Given the description of an element on the screen output the (x, y) to click on. 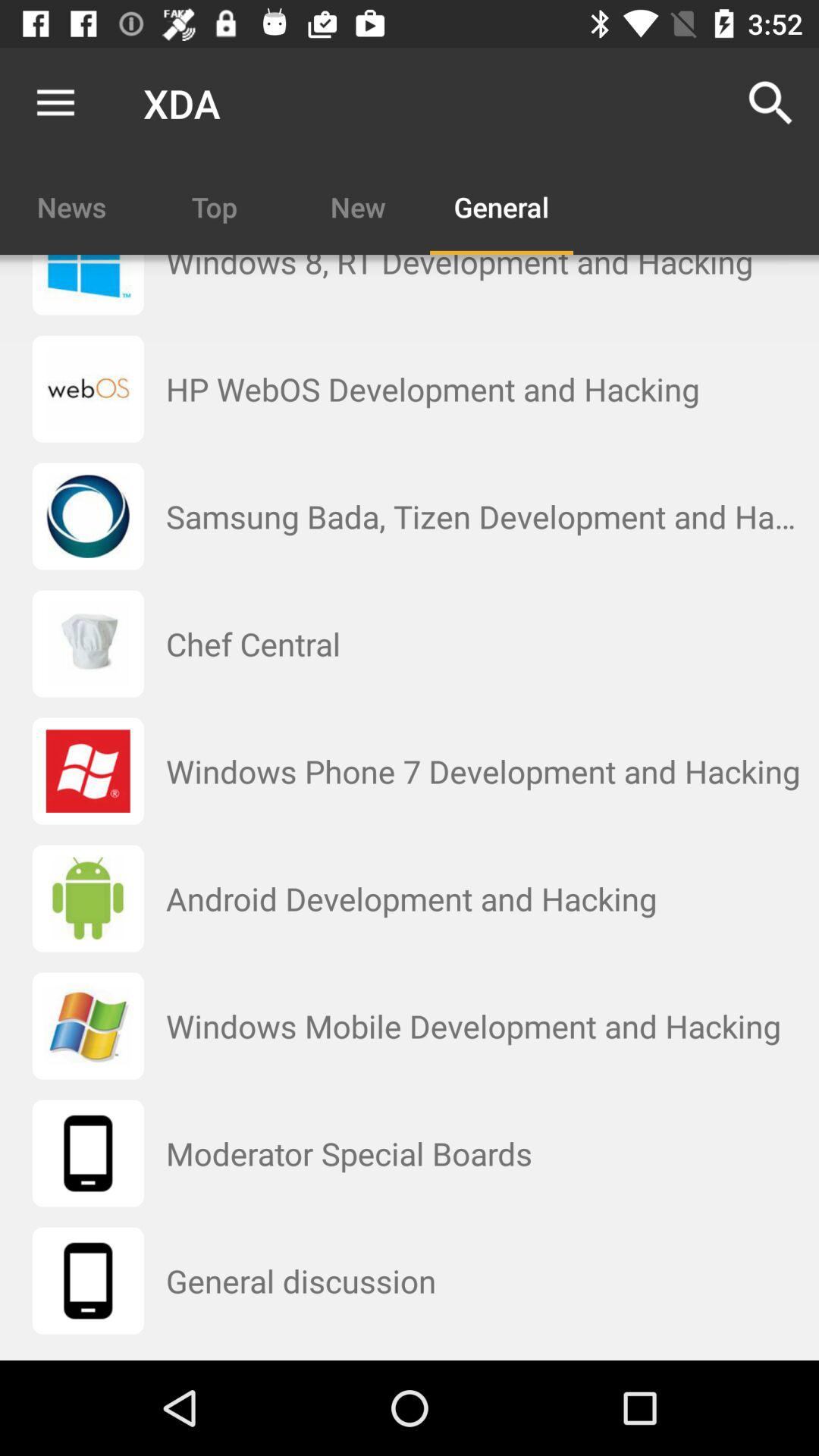
press the item next to the xda icon (771, 103)
